Given the description of an element on the screen output the (x, y) to click on. 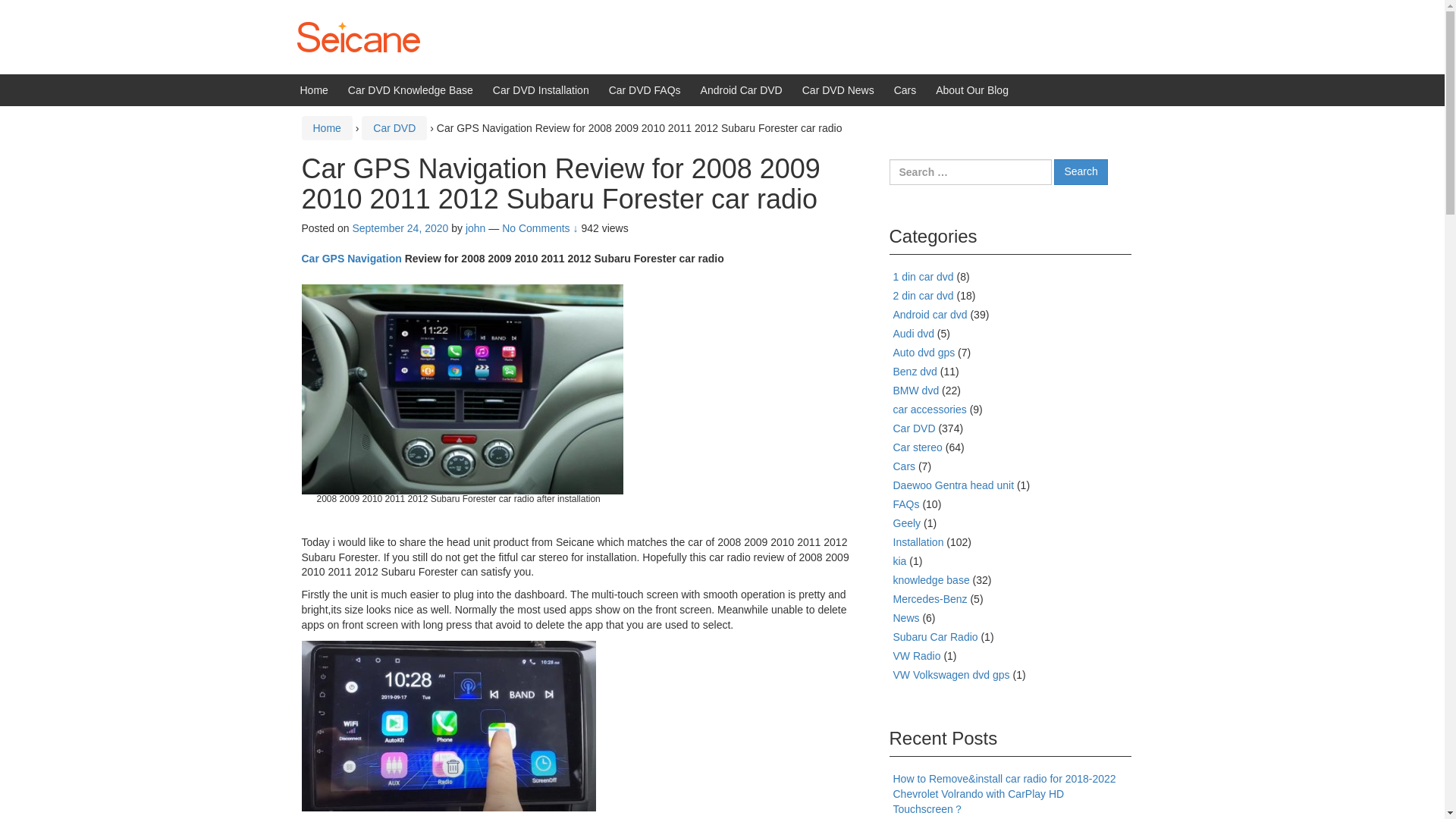
View all posts by john (474, 227)
September 24, 2020 (400, 227)
5:54 pm (400, 227)
faqs of car dvd (906, 503)
1 din car dvd (923, 276)
Cars (905, 90)
Car DVD News (838, 90)
Benz dvd (915, 371)
Seicane (357, 36)
Audi dvd (913, 333)
Search (1080, 171)
Car GPS Navigation (914, 428)
john (351, 258)
BMW dvd (474, 227)
